Given the description of an element on the screen output the (x, y) to click on. 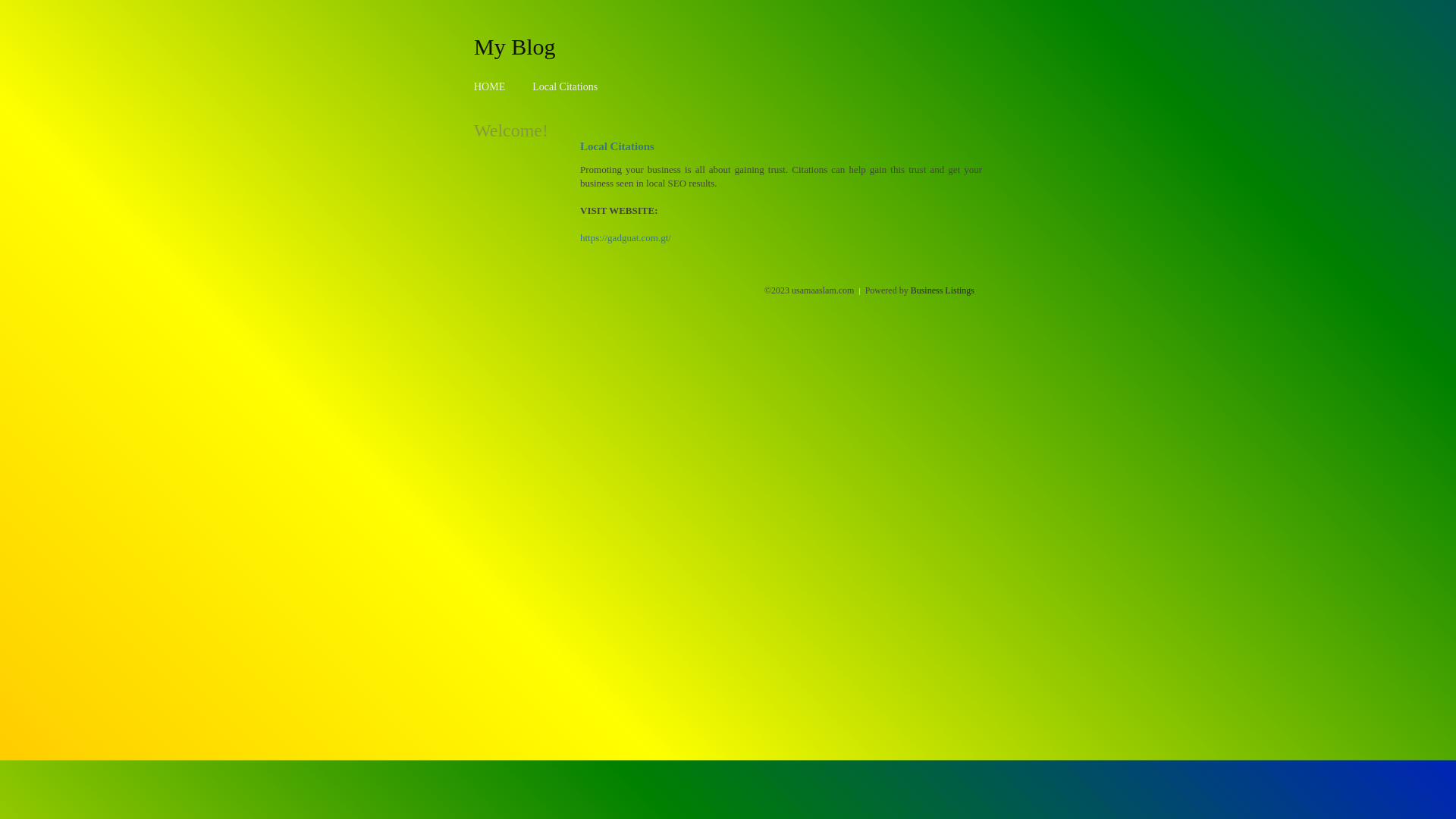
Business Listings Element type: text (942, 290)
HOME Element type: text (489, 86)
My Blog Element type: text (514, 46)
Local Citations Element type: text (564, 86)
https://gadguat.com.gt/ Element type: text (625, 237)
